Given the description of an element on the screen output the (x, y) to click on. 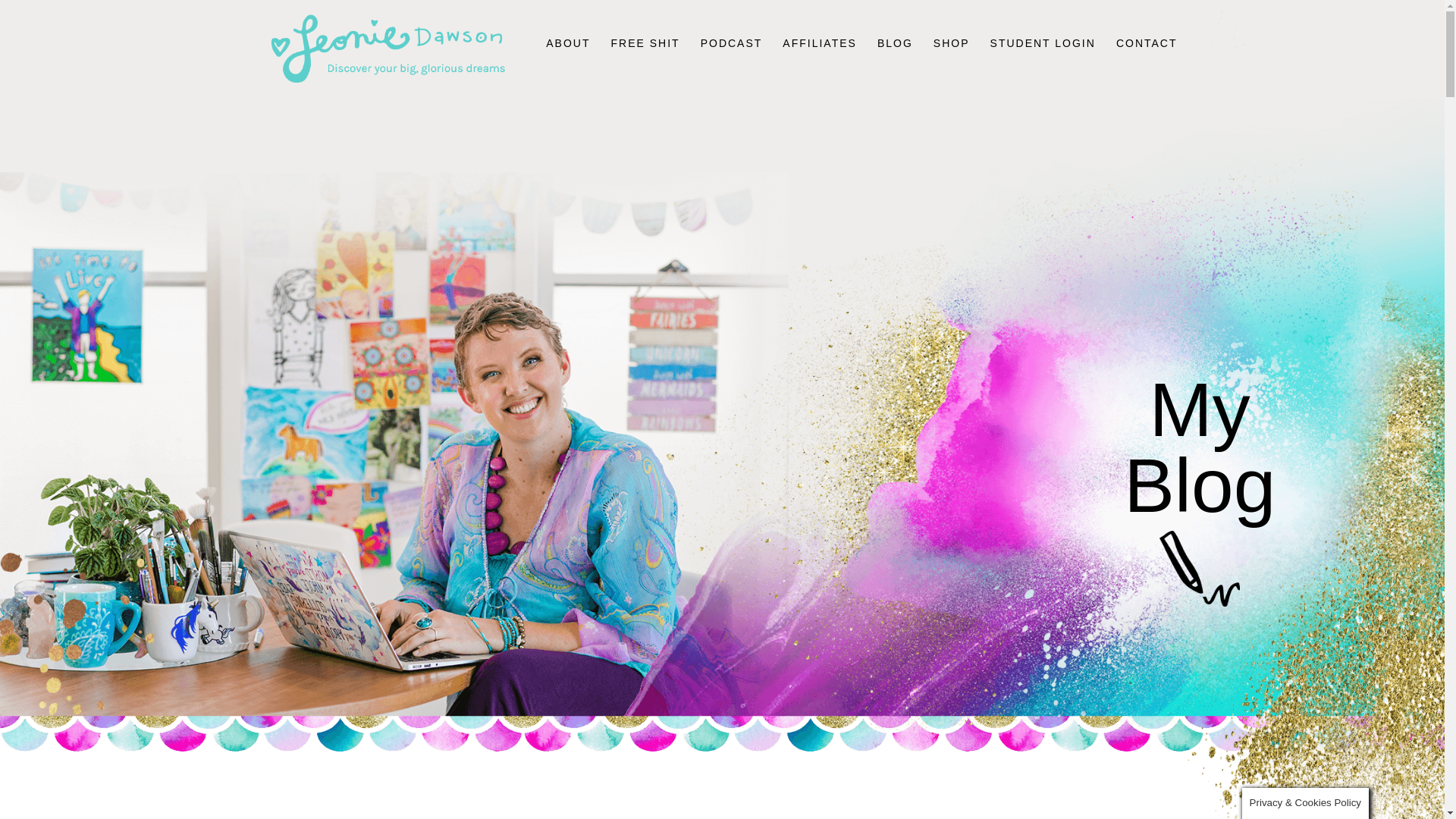
PODCAST (731, 61)
CONTACT (1146, 61)
FREE SHIT (645, 61)
ABOUT (567, 61)
AFFILIATES (820, 61)
STUDENT LOGIN (1043, 61)
